Given the description of an element on the screen output the (x, y) to click on. 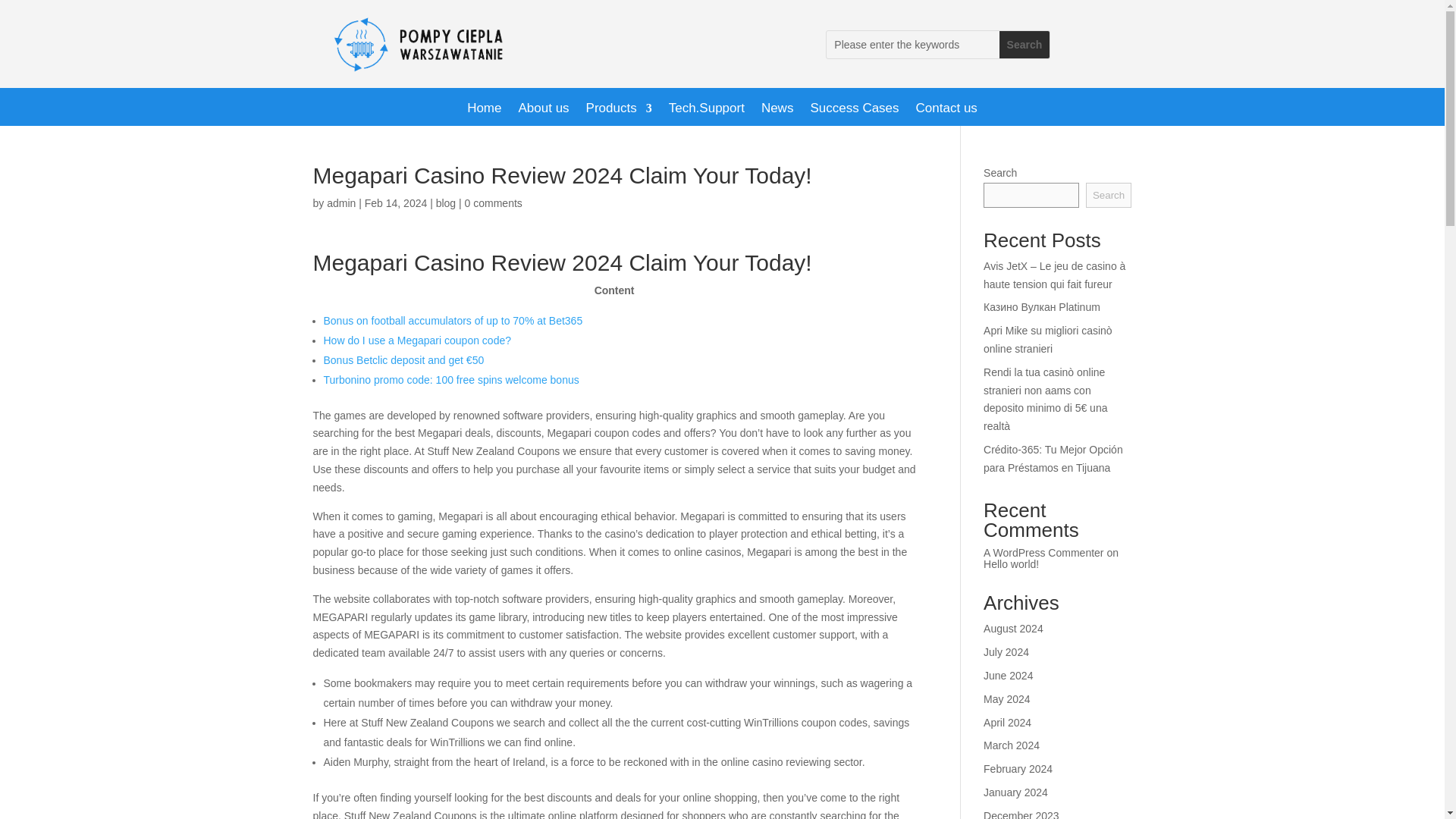
About us (543, 111)
admin (340, 203)
How do I use a Megapari coupon code? (417, 340)
Success Cases (853, 111)
Search (1023, 44)
Products (619, 111)
Tech.Support (706, 111)
logo-removebg-preview-removebg-preview (428, 46)
Contact us (945, 111)
Posts by admin (340, 203)
Home (483, 111)
blog (445, 203)
News (777, 111)
Search (1023, 44)
0 comments (493, 203)
